Given the description of an element on the screen output the (x, y) to click on. 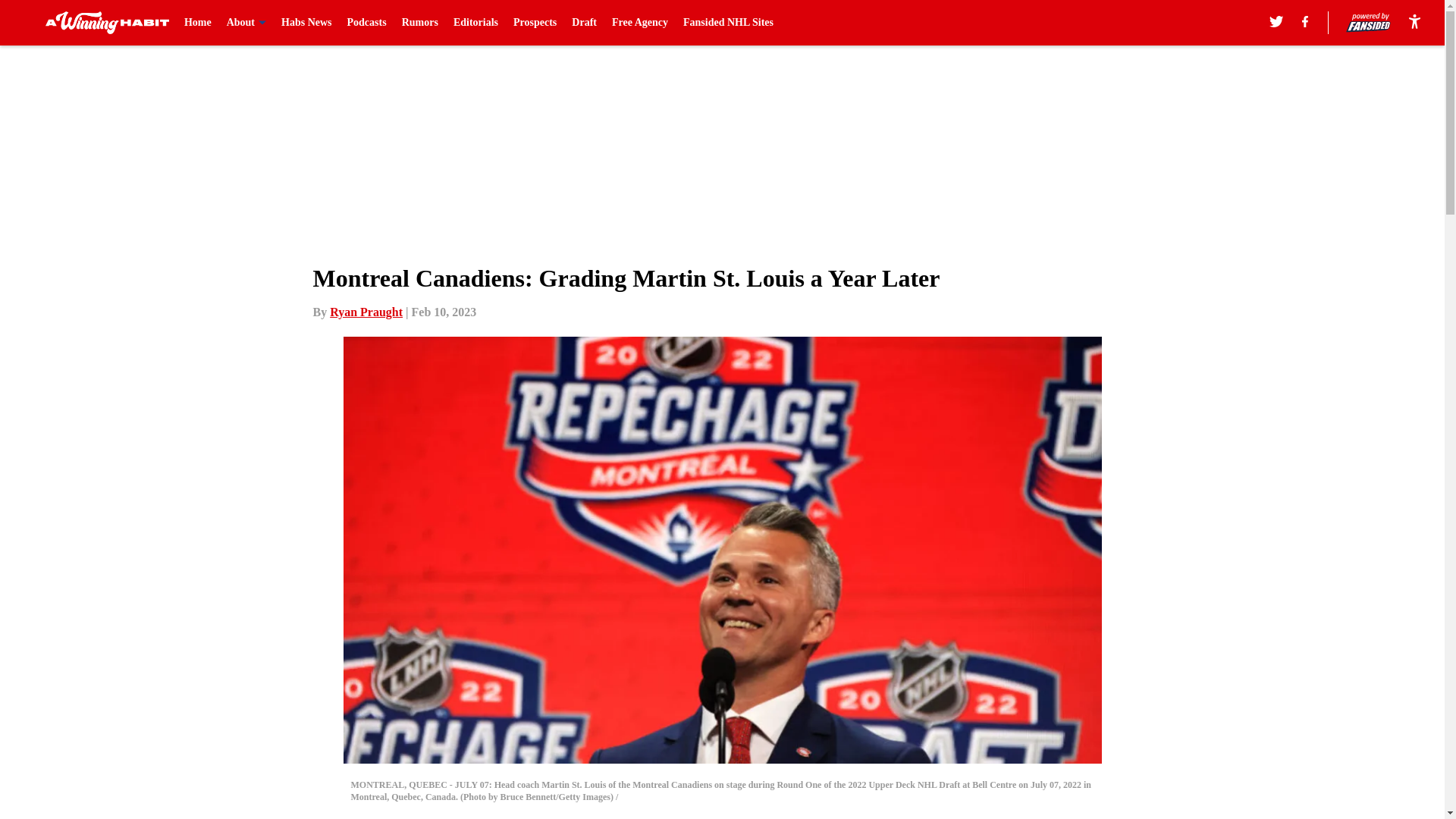
Prospects (534, 22)
Ryan Praught (366, 311)
Podcasts (367, 22)
Editorials (474, 22)
Draft (584, 22)
Habs News (306, 22)
Free Agency (639, 22)
Home (197, 22)
Fansided NHL Sites (727, 22)
Rumors (419, 22)
